Given the description of an element on the screen output the (x, y) to click on. 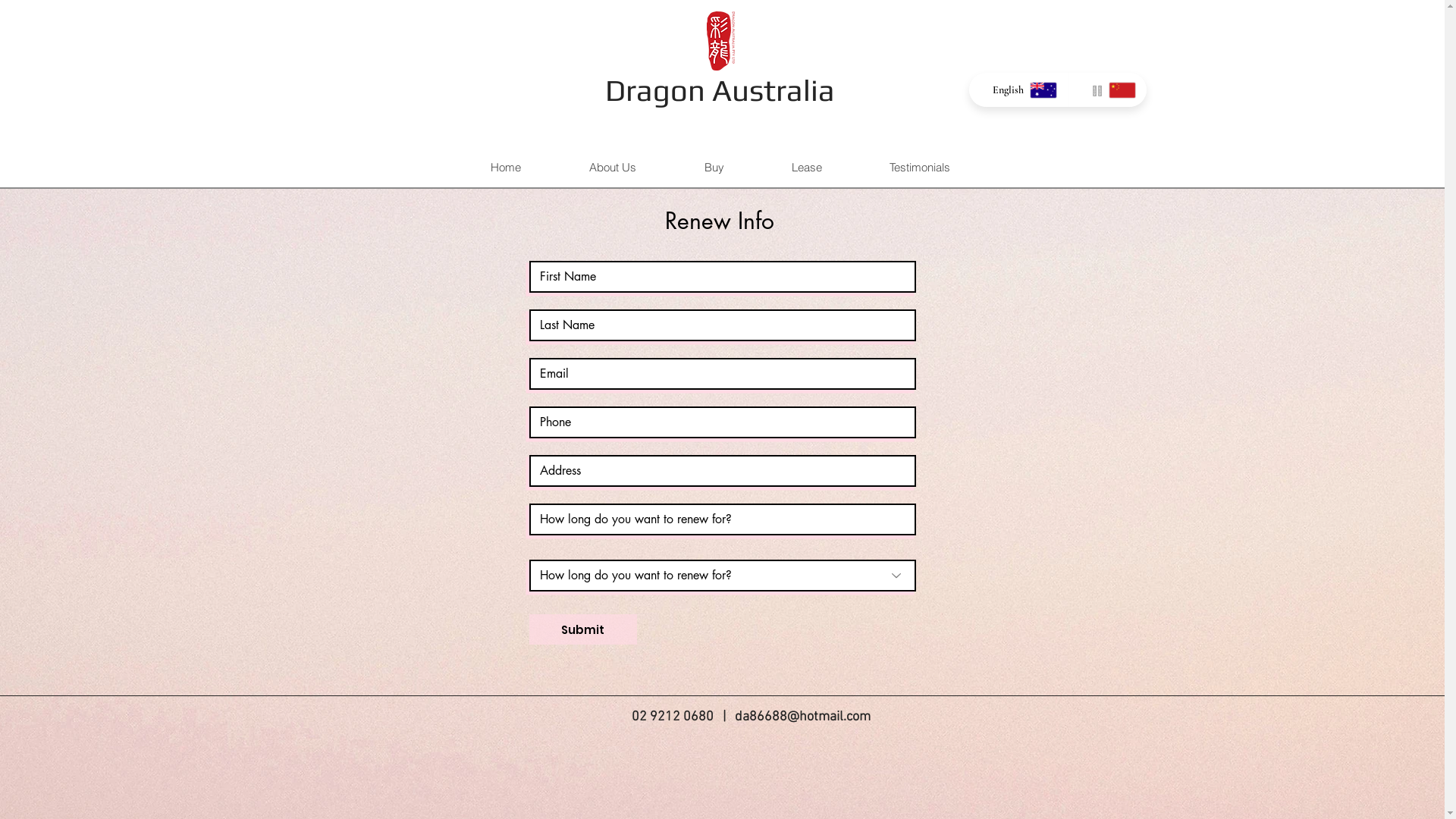
About Us Element type: text (612, 167)
Home Element type: text (505, 167)
Submit Element type: text (583, 629)
Company-Logo.png Element type: hover (720, 40)
Testimonials Element type: text (919, 167)
Dragon Australia Element type: text (719, 89)
English Element type: text (1018, 89)
da86688@hotmail.com Element type: text (801, 716)
